Given the description of an element on the screen output the (x, y) to click on. 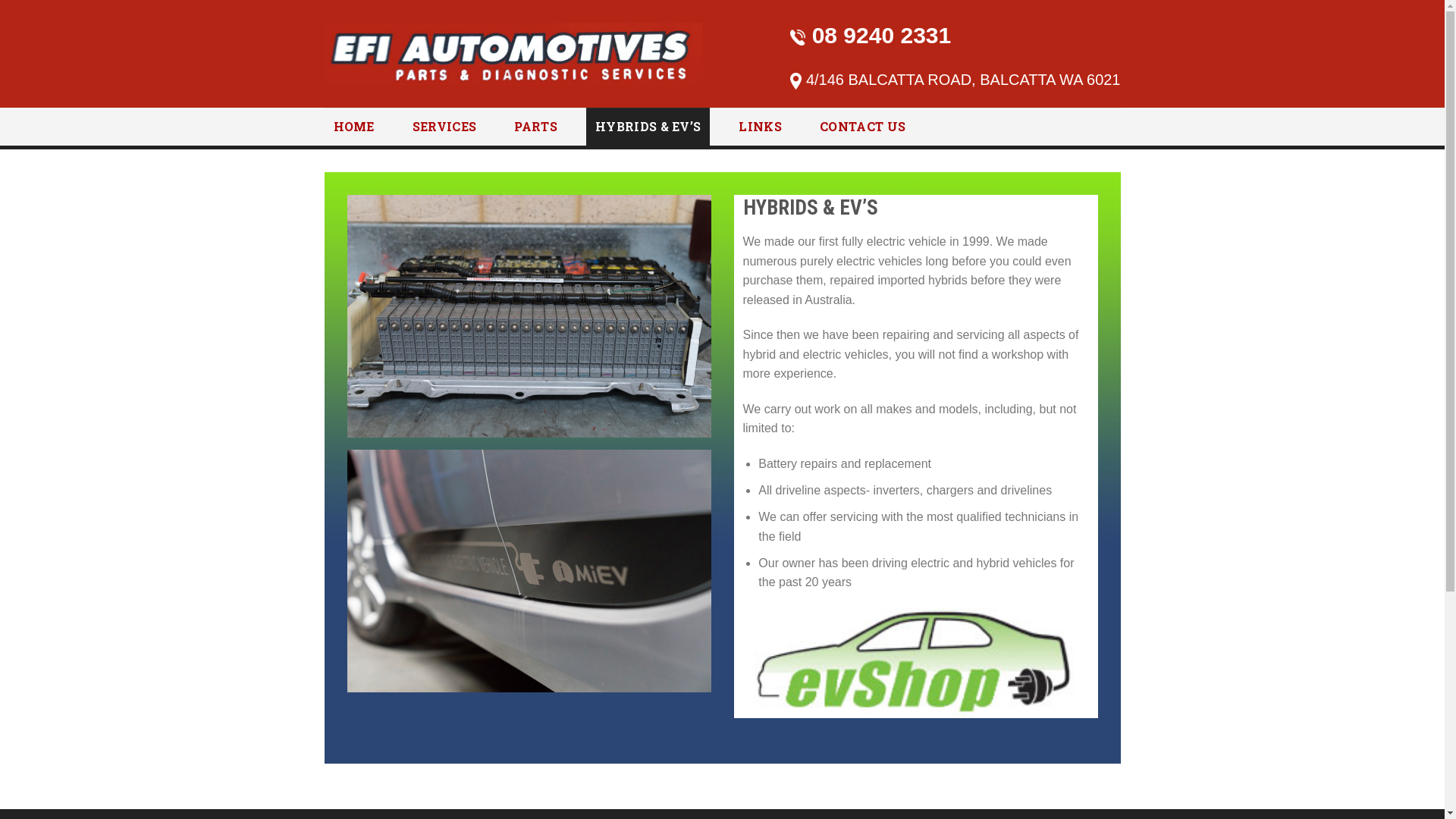
Skip to content Element type: text (0, 0)
SERVICES Element type: text (444, 126)
HOME Element type: text (353, 126)
LINKS Element type: text (759, 126)
PARTS Element type: text (535, 126)
CONTACT US Element type: text (862, 126)
08 9240 2331 Element type: text (870, 34)
4/146 BALCATTA ROAD, BALCATTA WA 6021 Element type: text (955, 79)
EFI Automotives - EFI Automotives
 Element type: hover (513, 53)
